Given the description of an element on the screen output the (x, y) to click on. 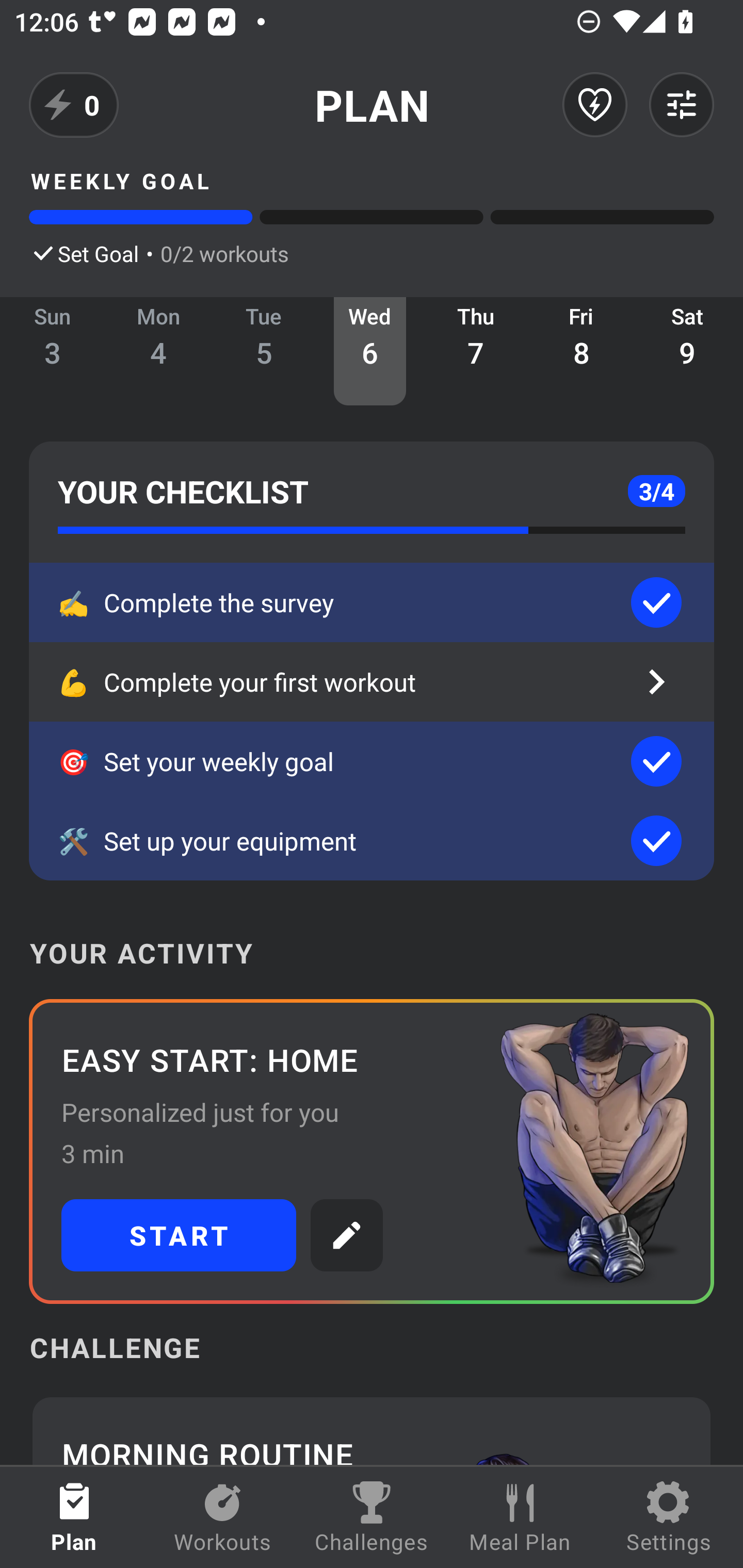
0 (73, 104)
Sun 3 (52, 351)
Mon 4 (158, 351)
Tue 5 (264, 351)
Wed 6 (369, 351)
Thu 7 (475, 351)
Fri 8 (581, 351)
Sat 9 (687, 351)
💪 Complete your first workout (371, 681)
START (178, 1235)
 Workouts  (222, 1517)
 Challenges  (371, 1517)
 Meal Plan  (519, 1517)
 Settings  (668, 1517)
